Given the description of an element on the screen output the (x, y) to click on. 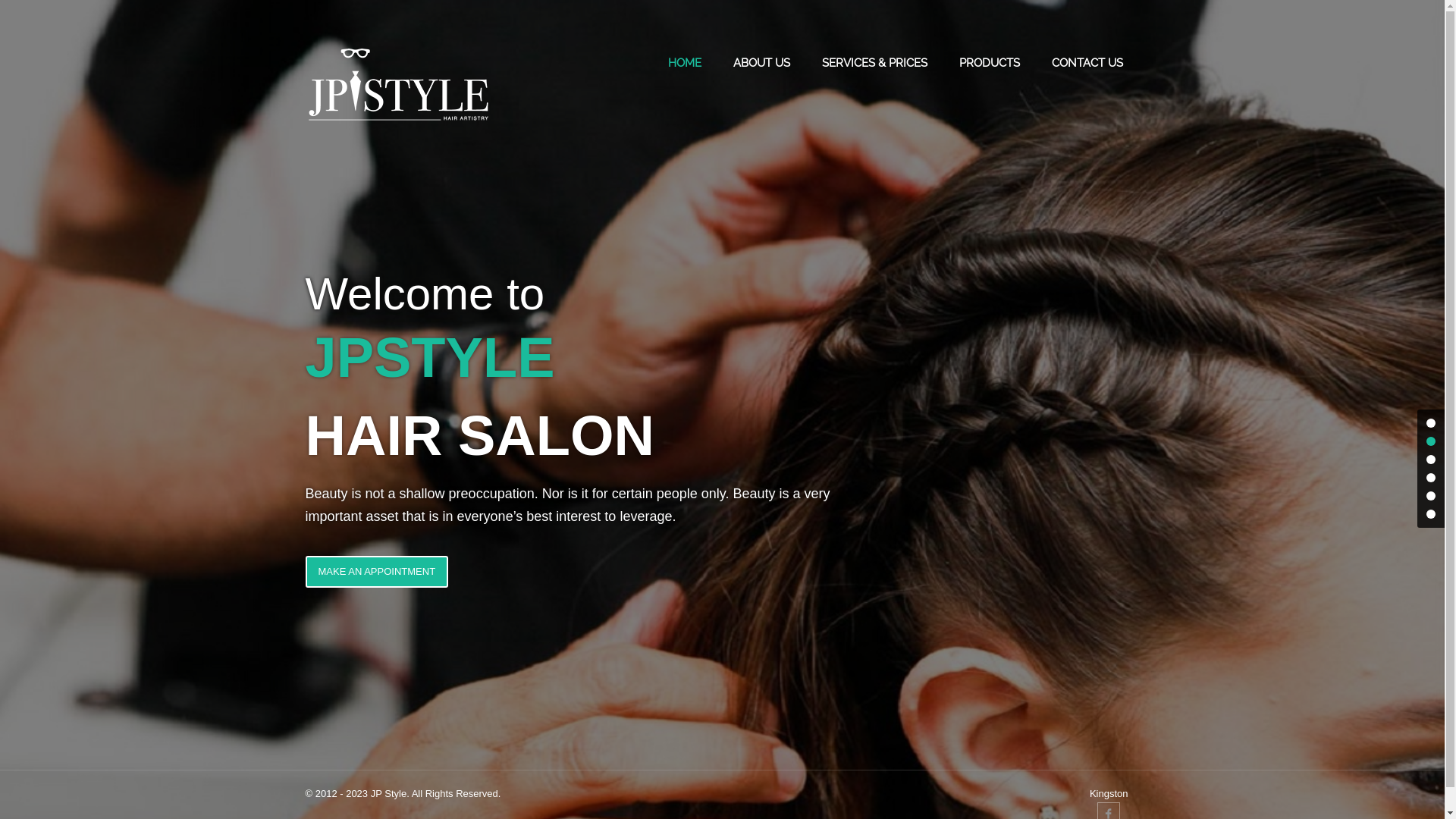
ABOUT US Element type: text (760, 63)
PRODUCTS Element type: text (988, 63)
MAKE AN APPOINTMENT Element type: text (376, 571)
CONTACT US Element type: text (1086, 63)
JP STYLE | BEST HAIR SALON IN CANBERRA Element type: hover (399, 84)
SERVICES & PRICES Element type: text (874, 63)
HOME Element type: text (683, 63)
